Given the description of an element on the screen output the (x, y) to click on. 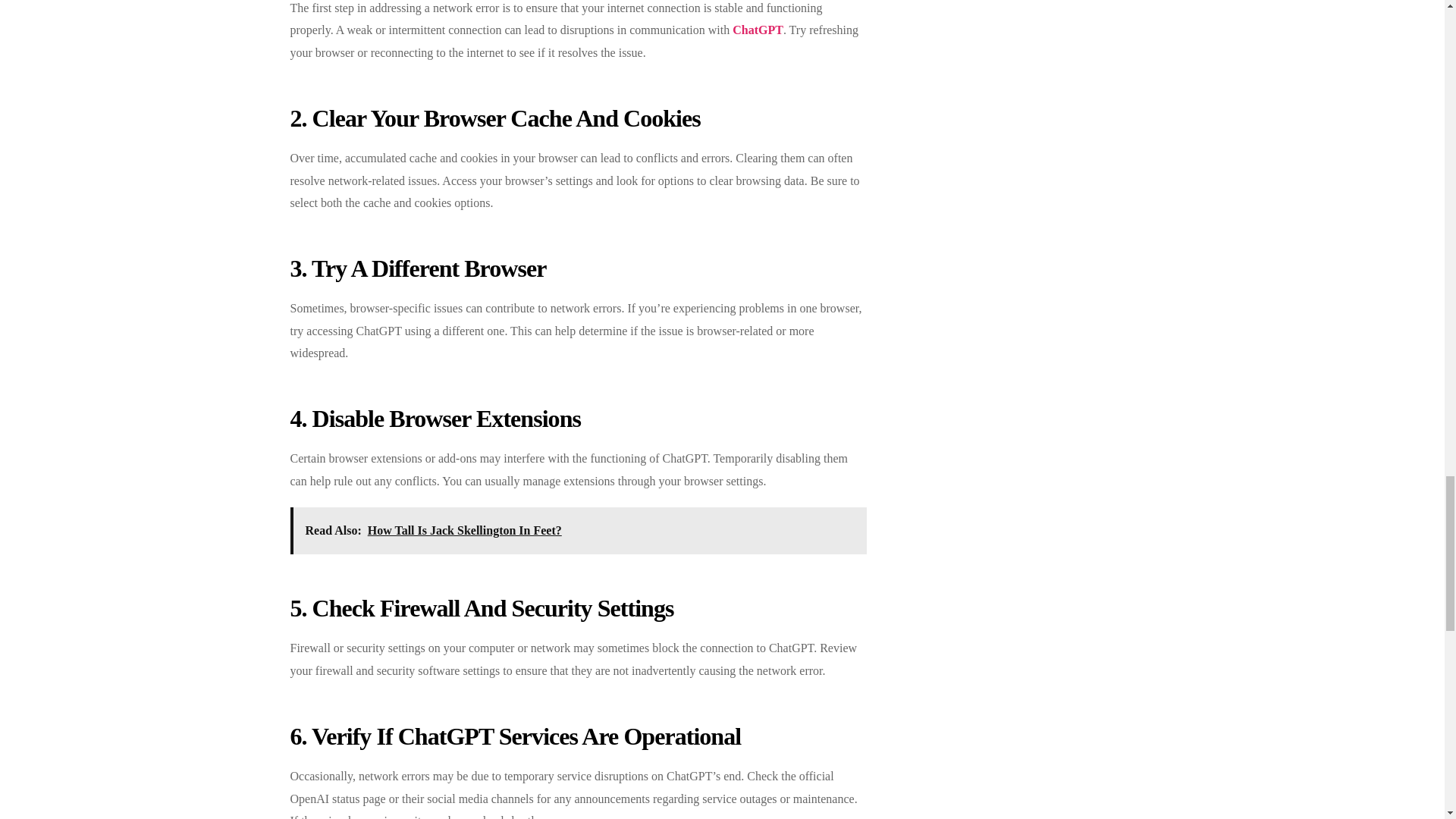
ChatGPT (757, 29)
Read Also:  How Tall Is Jack Skellington In Feet? (577, 530)
